Given the description of an element on the screen output the (x, y) to click on. 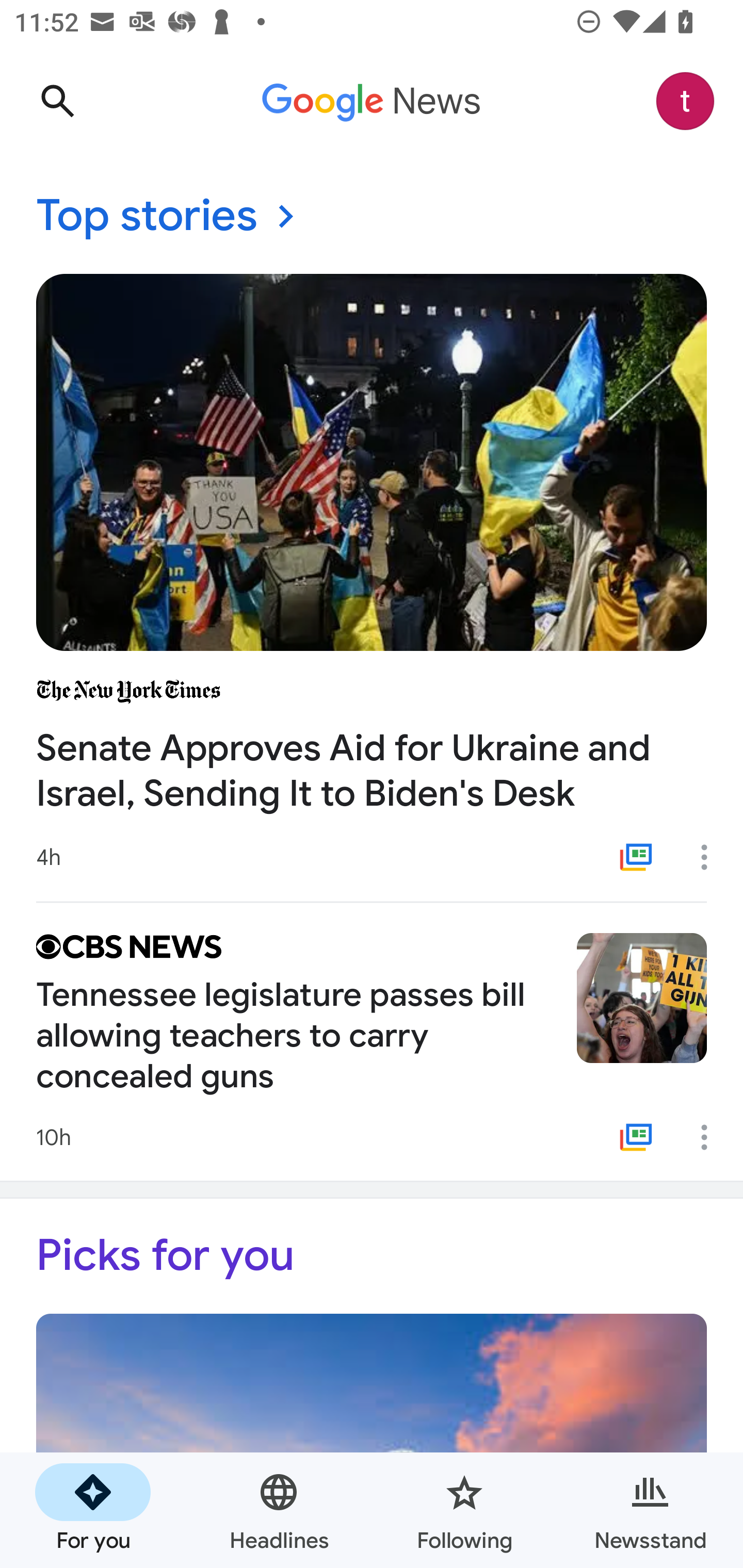
Search (57, 100)
Top stories (371, 216)
More options (711, 856)
More options (711, 1137)
For you (92, 1509)
Headlines (278, 1509)
Following (464, 1509)
Newsstand (650, 1509)
